Given the description of an element on the screen output the (x, y) to click on. 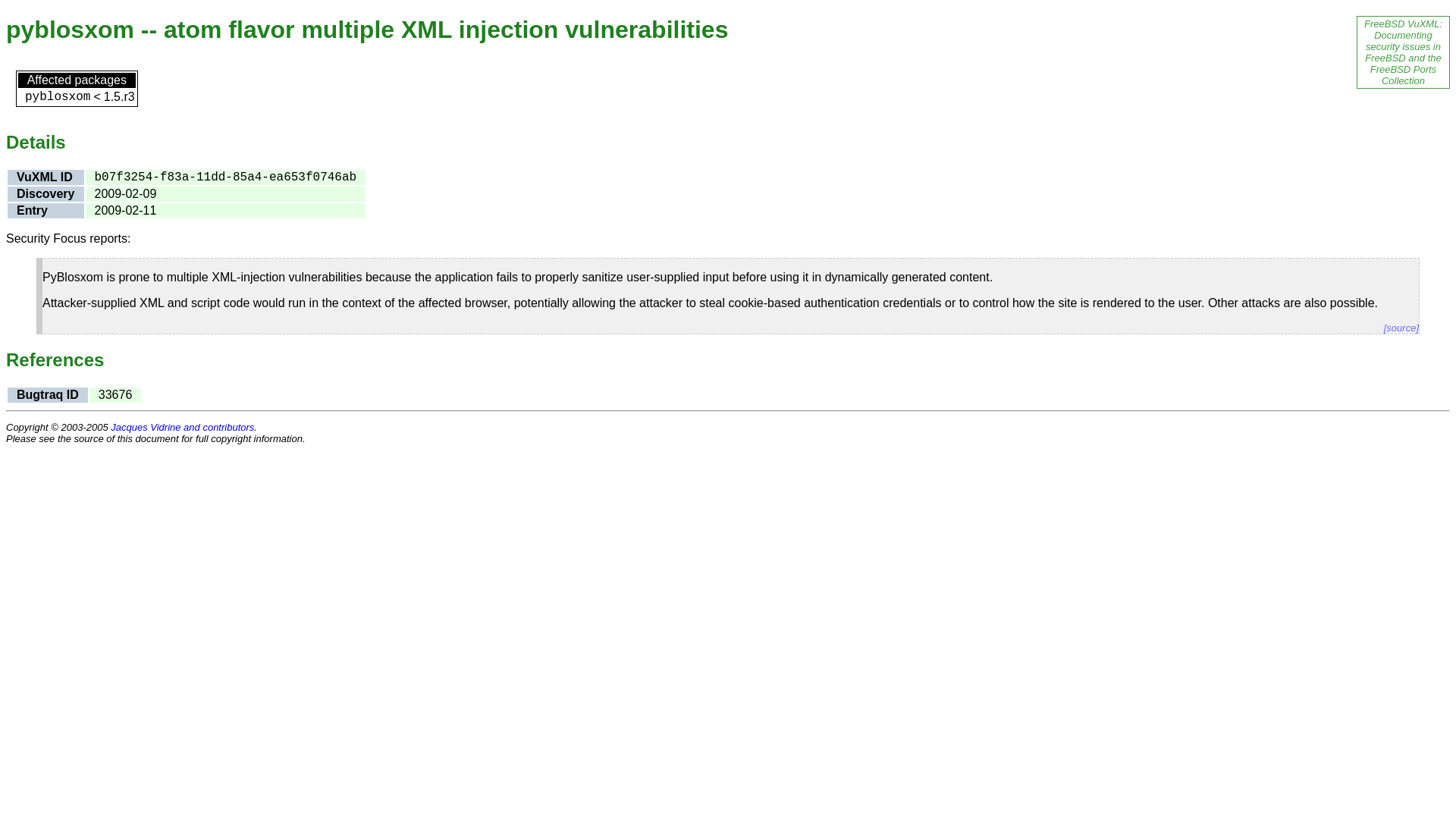
pyblosxom (57, 97)
33676 (115, 394)
